Given the description of an element on the screen output the (x, y) to click on. 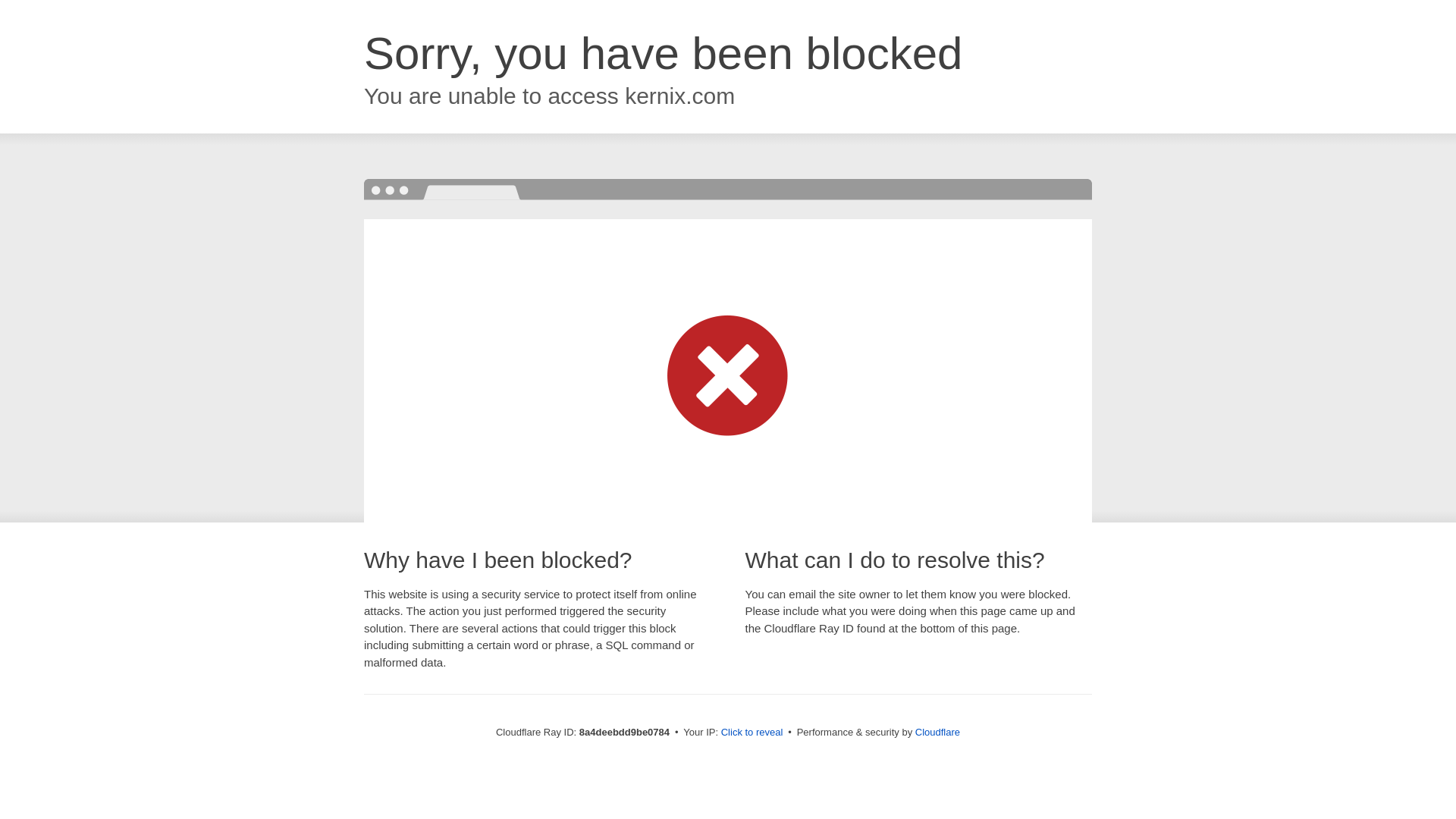
Cloudflare (937, 731)
Click to reveal (751, 732)
